Given the description of an element on the screen output the (x, y) to click on. 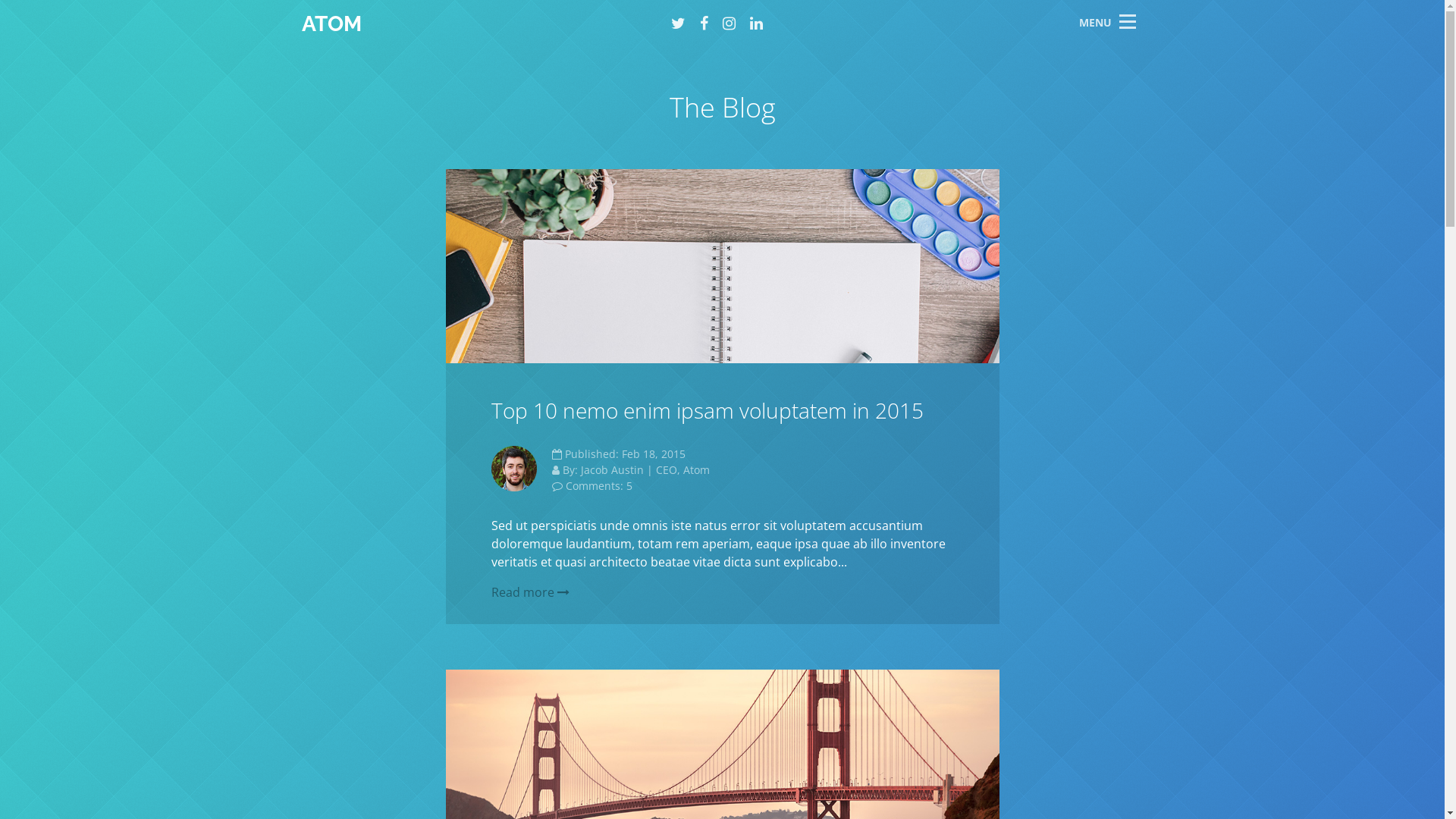
Read more Element type: text (530, 591)
PRESS Element type: text (1353, 101)
404 Element type: text (1353, 356)
BLOG Element type: text (1353, 261)
JOB SINGLE Element type: text (1353, 229)
JOBS Element type: text (1353, 197)
Top 10 nemo enim ipsam voluptatem in 2015 Element type: text (707, 409)
5 Element type: text (629, 485)
Jacob Austin | CEO, Atom Element type: text (644, 469)
HOME Element type: text (1353, 38)
ABOUT Element type: text (1353, 70)
OPTIONS Element type: text (1353, 388)
CONTACT Element type: text (1353, 324)
BLOG POST Element type: text (1353, 293)
FAQS Element type: text (1353, 165)
ATOM Element type: text (331, 23)
PRICING Element type: text (1353, 133)
Feb 18, 2015 Element type: text (653, 453)
